Given the description of an element on the screen output the (x, y) to click on. 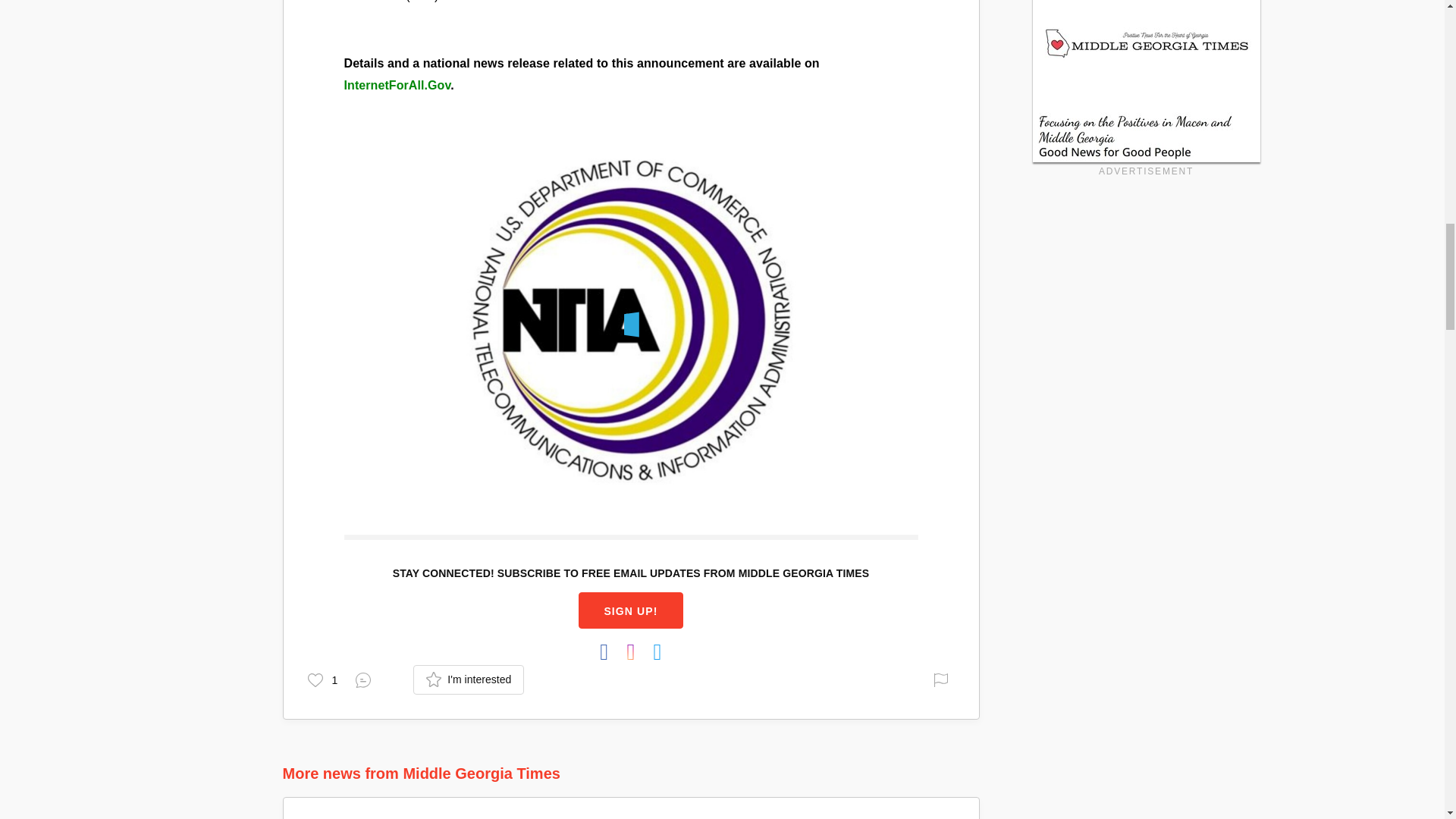
Thank (322, 678)
Reply (366, 678)
